Given the description of an element on the screen output the (x, y) to click on. 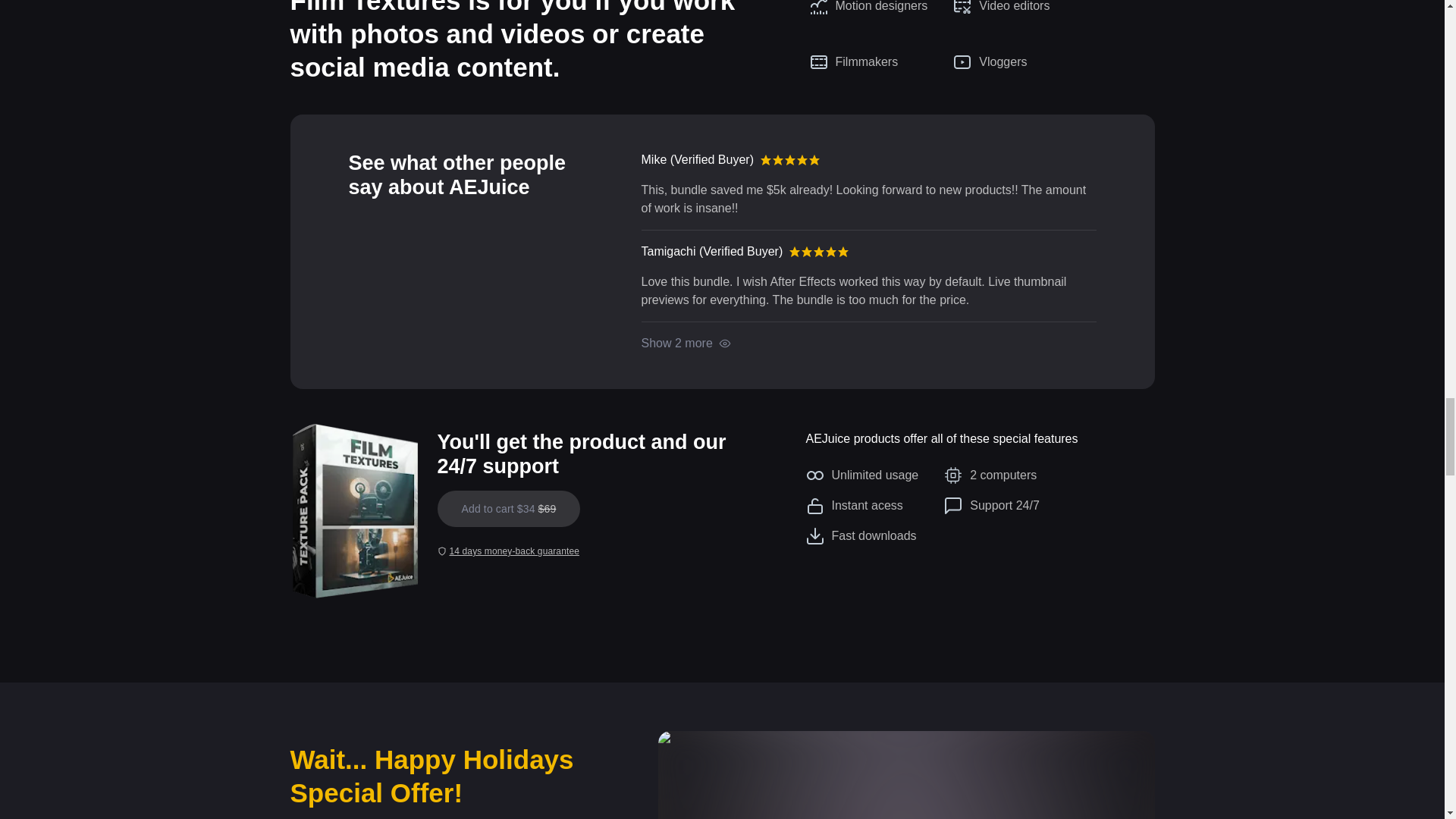
14 days money-back guarantee (507, 551)
Show 2 more (686, 343)
Film Textures (354, 512)
